Given the description of an element on the screen output the (x, y) to click on. 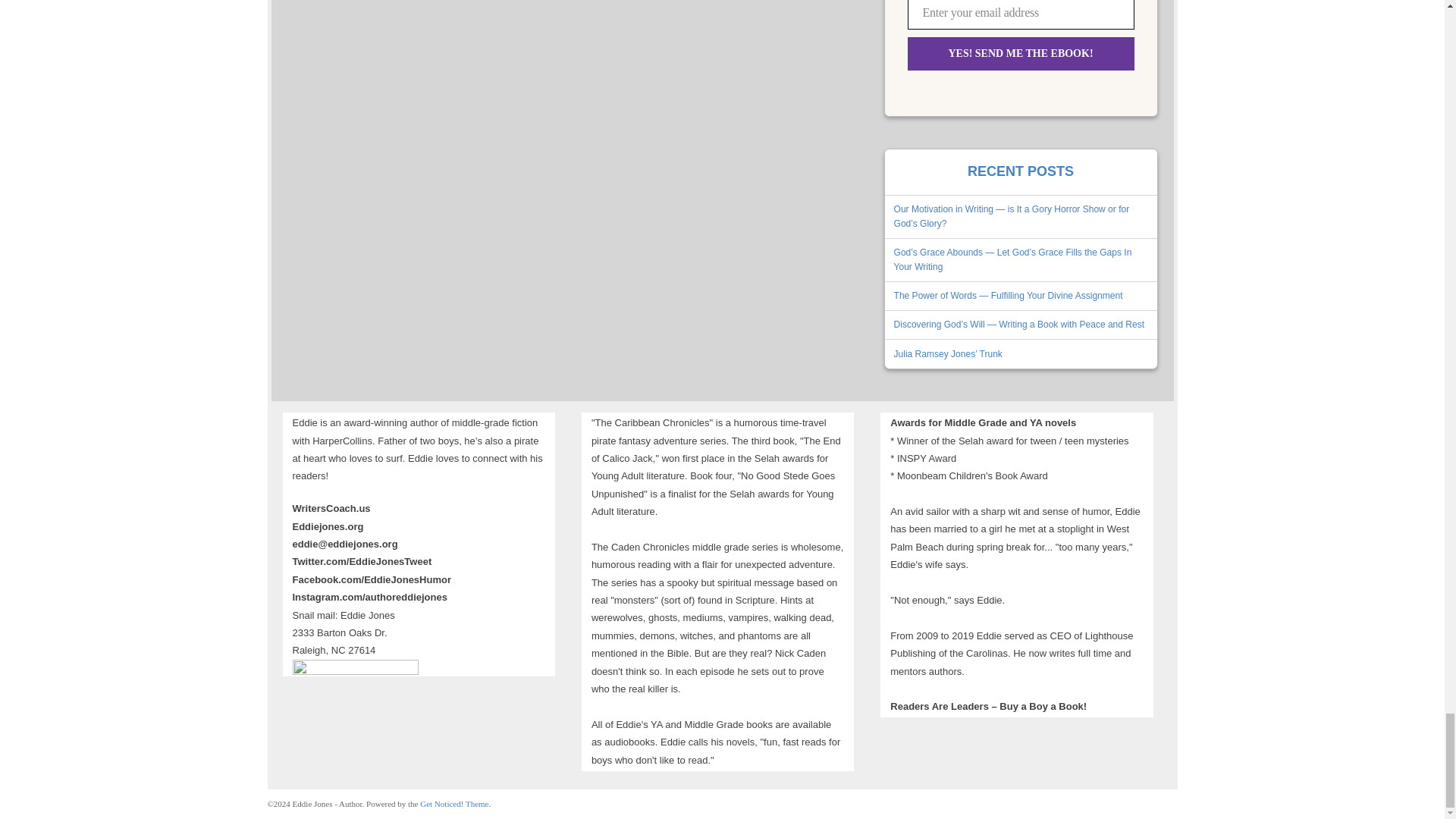
Screen shot 2013-03-08 at 10.40.31 AM (355, 667)
